Given the description of an element on the screen output the (x, y) to click on. 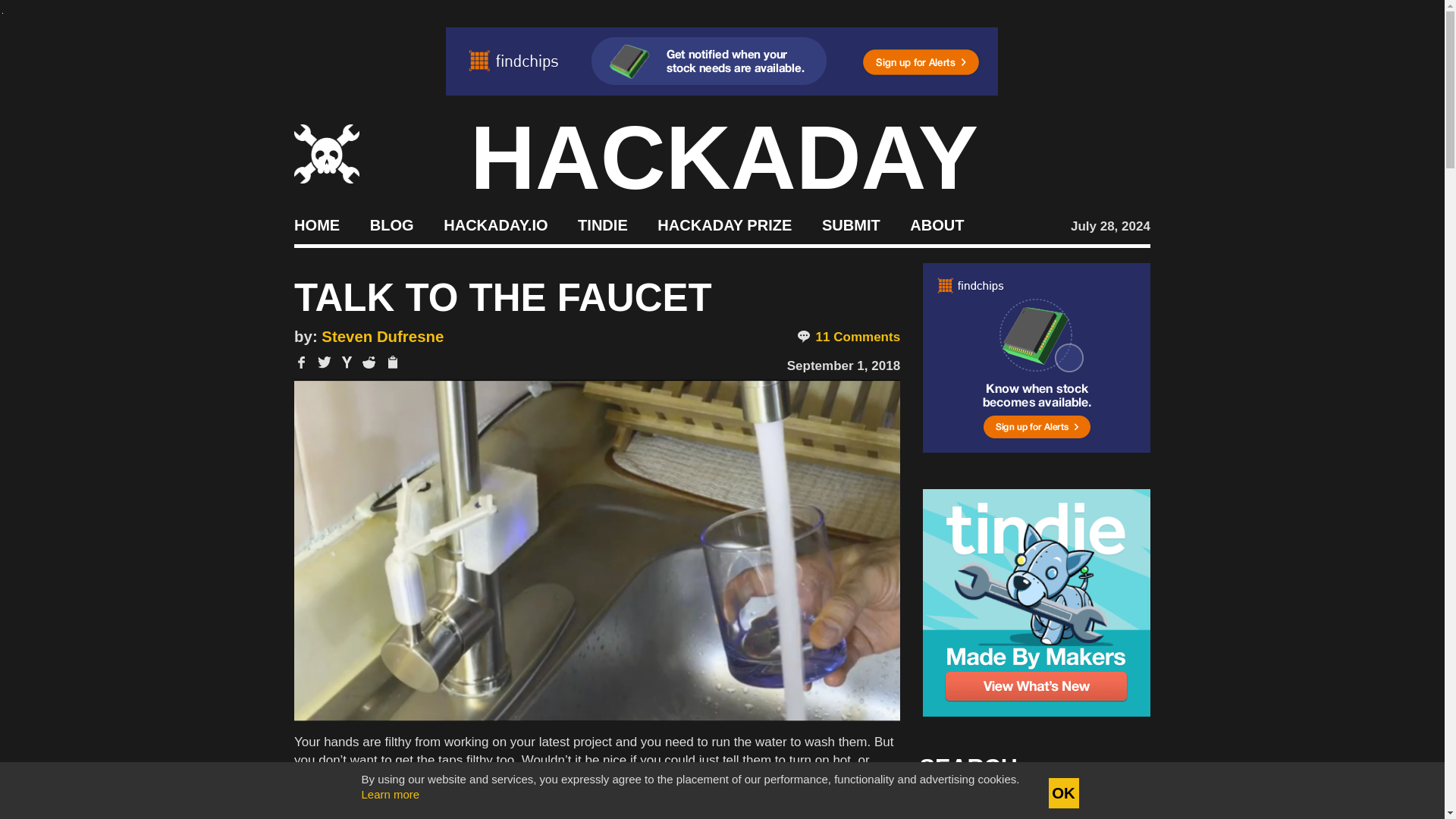
September 1, 2018 (843, 365)
TINDIE (602, 224)
Share on Facebook (301, 361)
SUBMIT (851, 224)
Share on Twitter (324, 361)
Steven Dufresne (382, 336)
HACKADAY PRIZE (725, 224)
Share on Reddit (369, 361)
Build Something that Matters (725, 224)
ABOUT (936, 224)
HOME (316, 224)
Copy title or shortlink (391, 363)
11 Comments (847, 337)
September 1, 2018 - 4:00 pm (843, 365)
he added servo motors to his kitchen tap (591, 787)
